Given the description of an element on the screen output the (x, y) to click on. 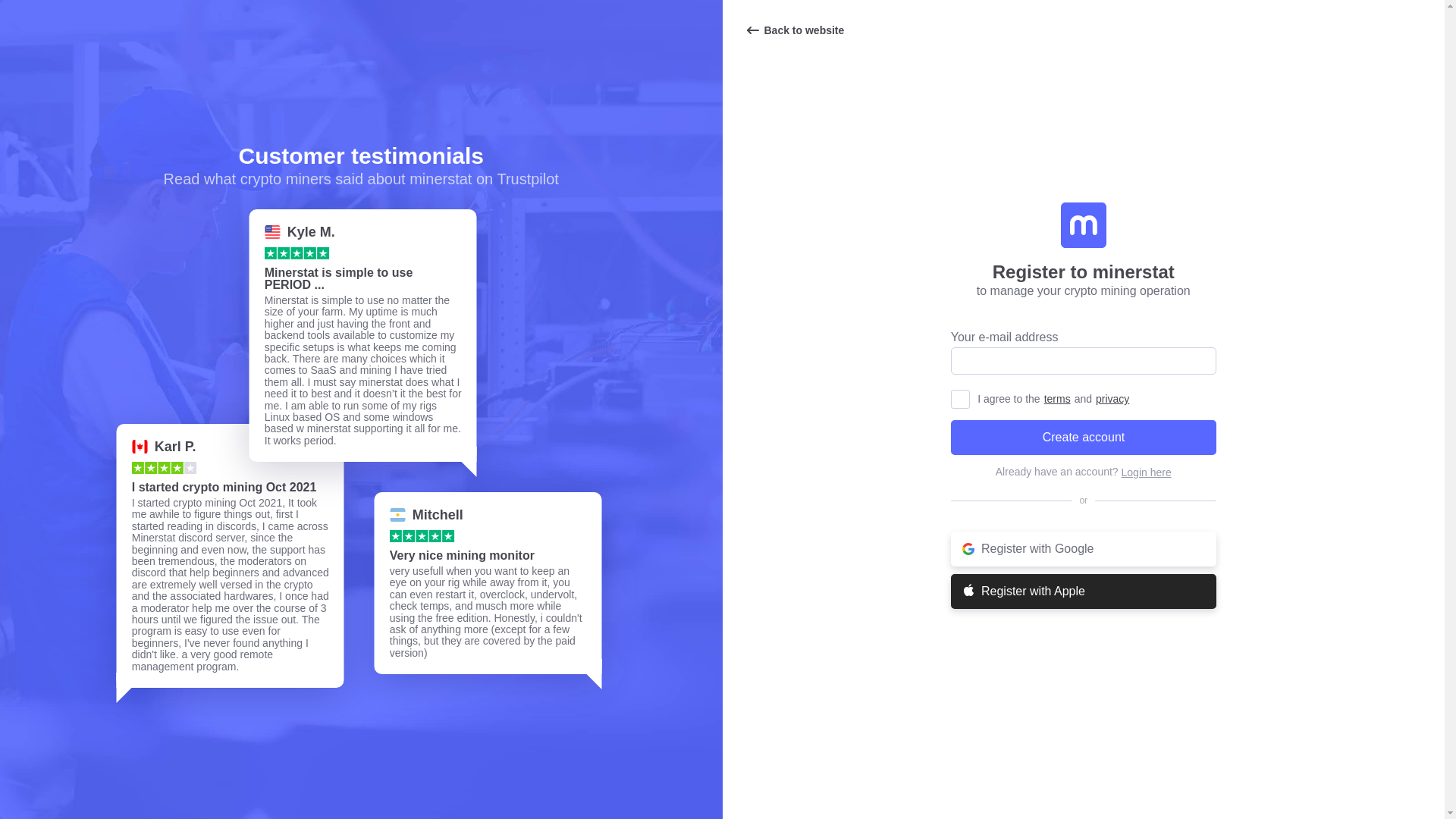
Login here (1146, 472)
privacy (1112, 398)
terms (1056, 398)
Create account (1082, 437)
Login (1146, 472)
Back to website (794, 29)
